Given the description of an element on the screen output the (x, y) to click on. 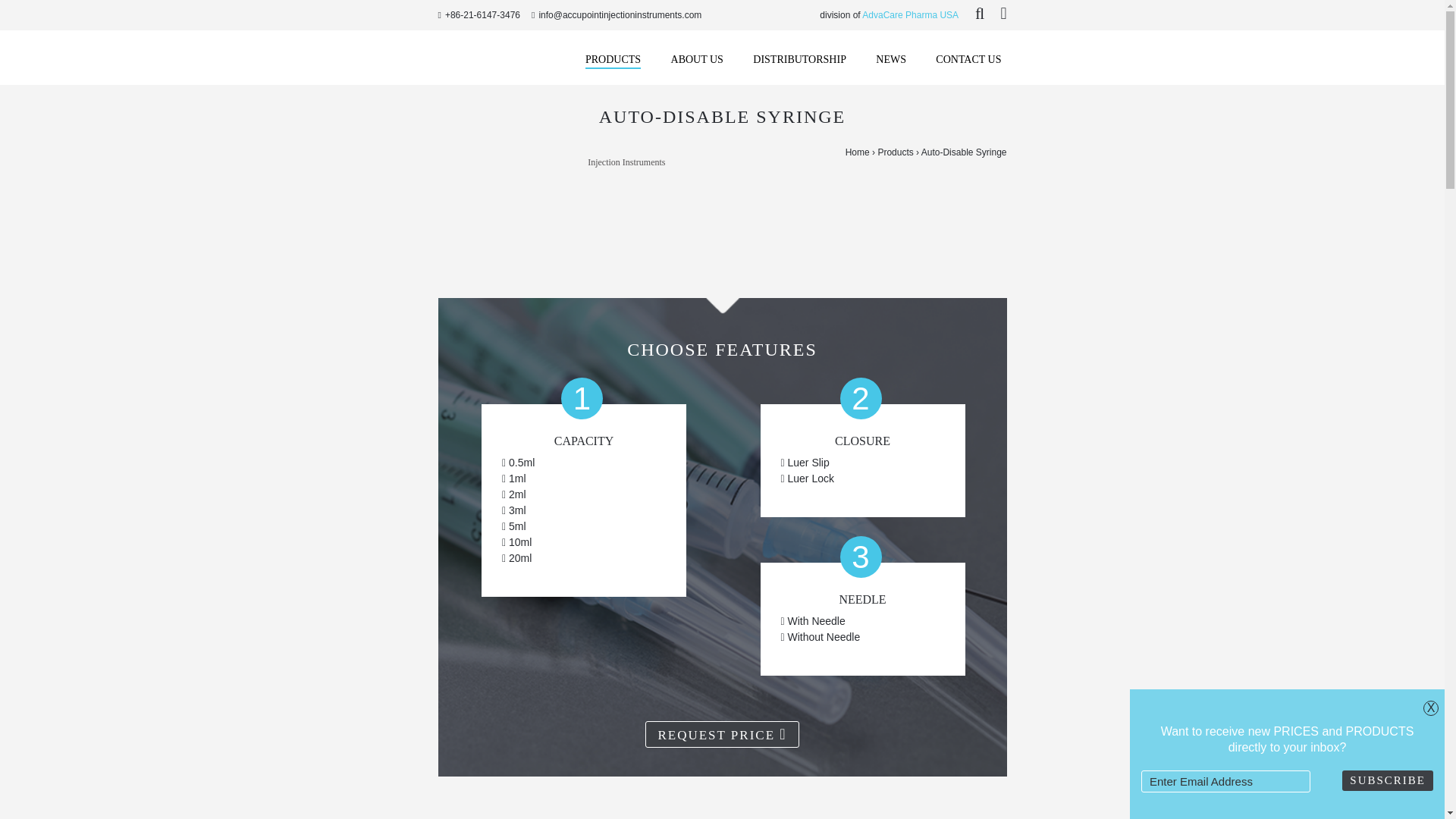
CONTACT US (968, 59)
DISTRIBUTORSHIP (798, 59)
subscribe (1387, 780)
AdvaCare Pharma USA (909, 14)
ABOUT US (697, 59)
PRODUCTS (612, 59)
NEWS (890, 59)
